Given the description of an element on the screen output the (x, y) to click on. 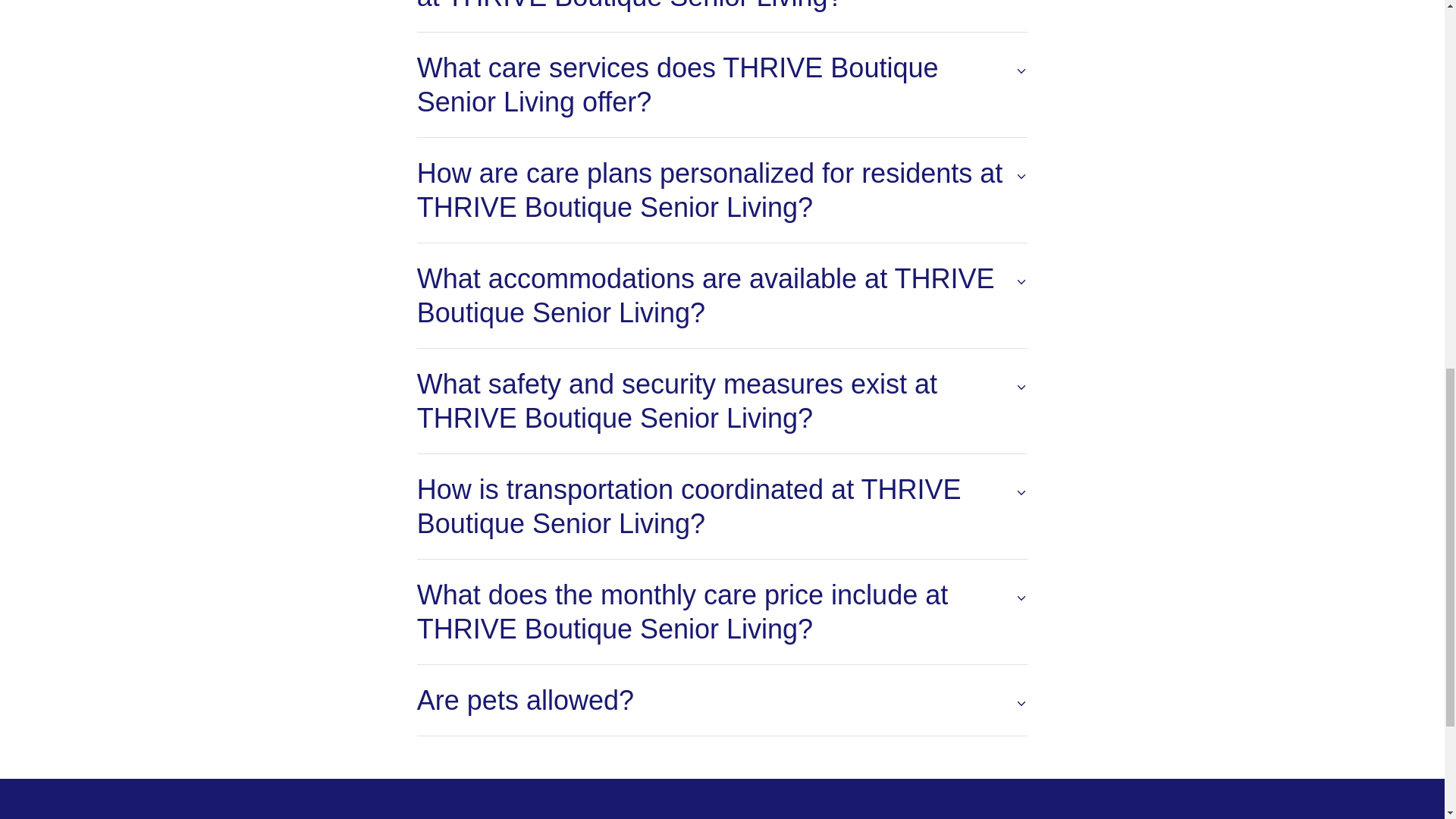
What care services does THRIVE Boutique Senior Living offer? (721, 85)
